Given the description of an element on the screen output the (x, y) to click on. 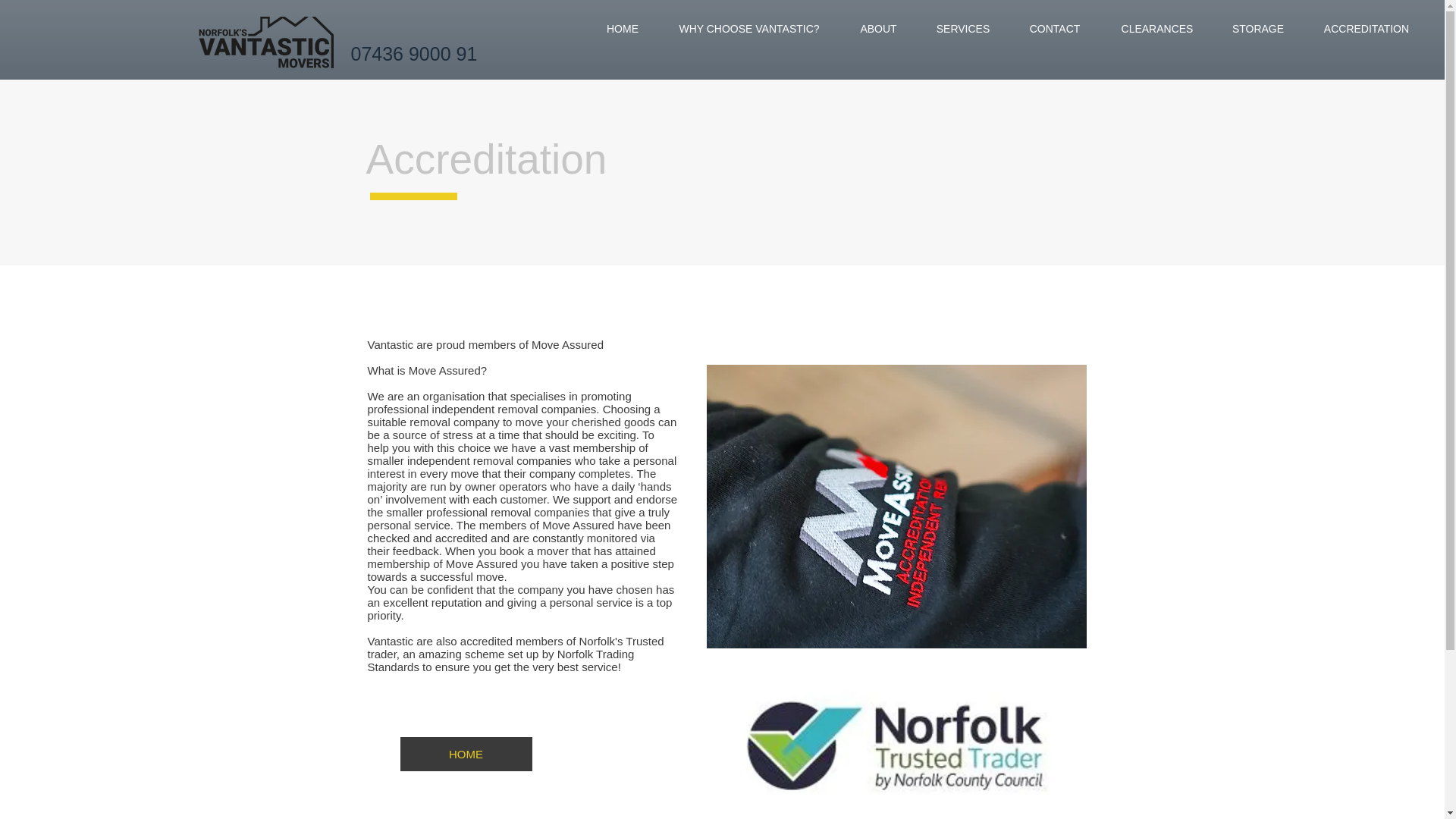
HOME (466, 754)
CONTACT (1054, 29)
WHY CHOOSE VANTASTIC? (748, 29)
STORAGE (1257, 29)
ABOUT (878, 29)
ACCREDITATION (1366, 29)
CLEARANCES (1157, 29)
SERVICES (962, 29)
HOME (622, 29)
